Given the description of an element on the screen output the (x, y) to click on. 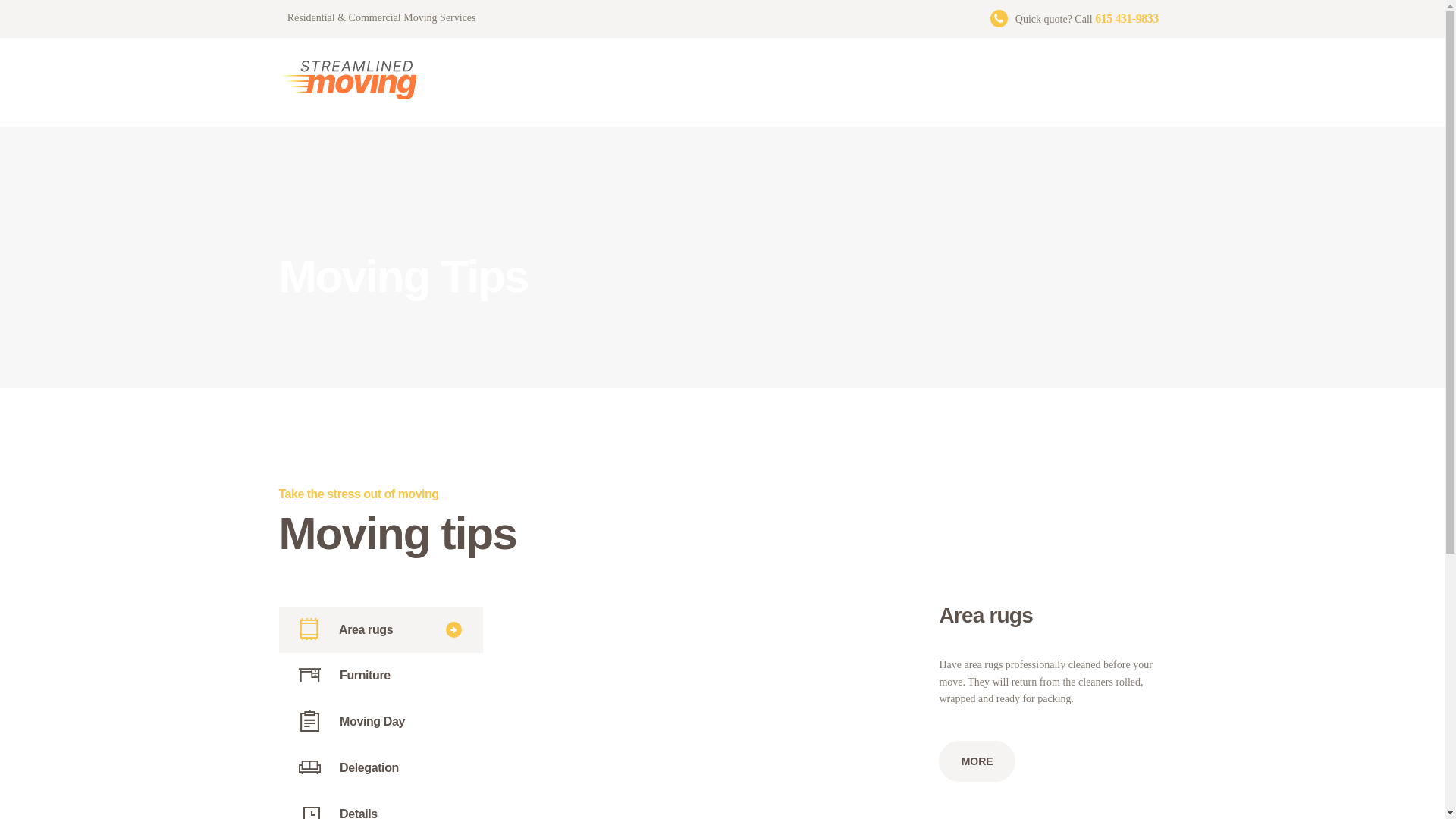
MORE (976, 761)
Furniture (380, 675)
Delegation (380, 767)
Details (380, 805)
Moving Day (380, 721)
Area rugs (381, 629)
Quick quote? Call615 431-9833 (1074, 17)
